Given the description of an element on the screen output the (x, y) to click on. 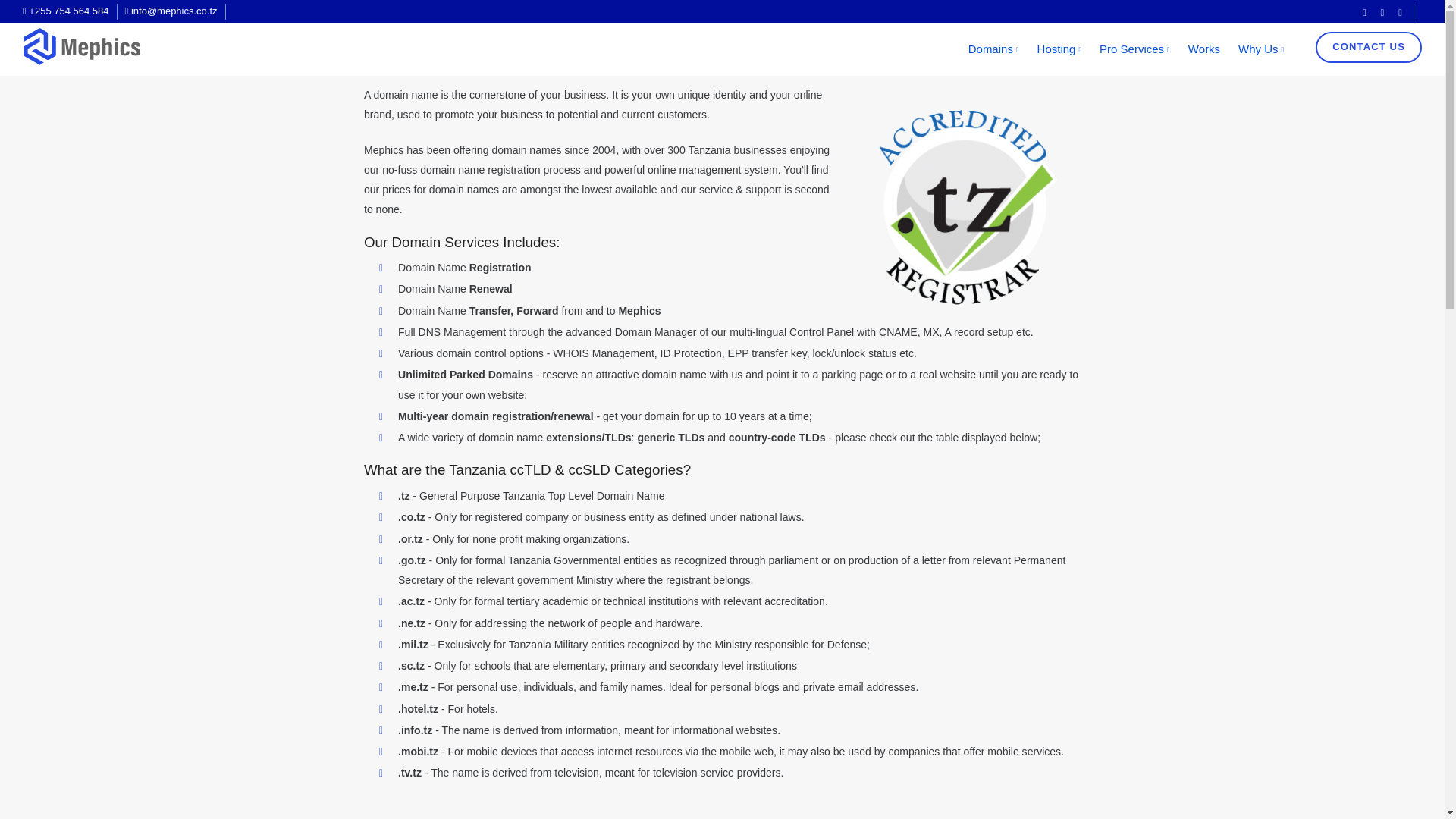
Facebook (1364, 11)
Instagram (1383, 11)
Why Us (1260, 49)
CONTACT US (1366, 49)
Hosting (1058, 49)
Works (1203, 49)
Domains (993, 49)
Pro Services (1134, 49)
Home (157, 14)
RSS (1400, 11)
